Given the description of an element on the screen output the (x, y) to click on. 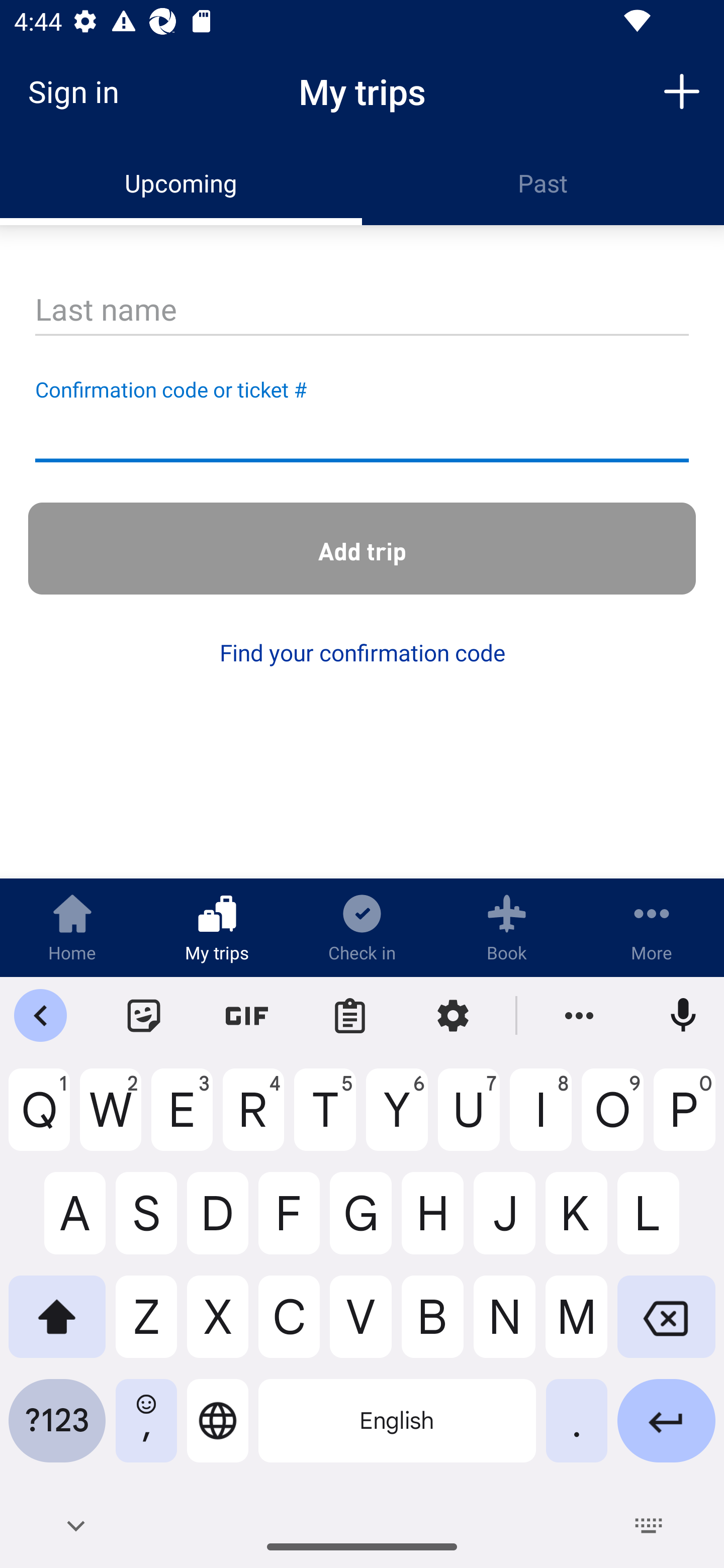
Sign in (80, 91)
Add trip (681, 90)
Past (543, 183)
Last name (361, 310)
Confirmation code or ticket # (361, 435)
Add trip (361, 548)
Home (72, 927)
Check in (361, 927)
Book (506, 927)
More (651, 927)
